Given the description of an element on the screen output the (x, y) to click on. 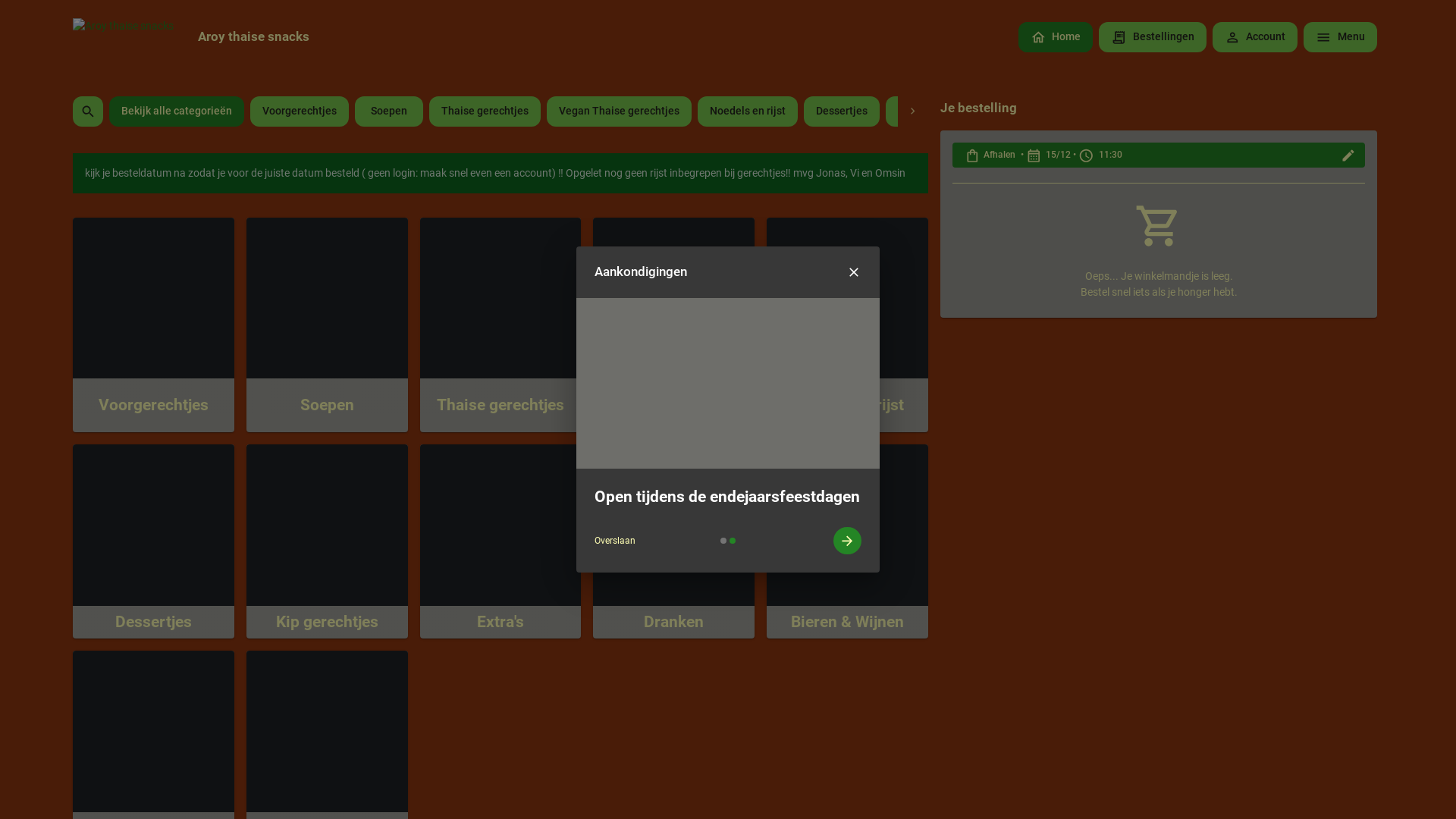
Kip gerechtjes Element type: text (303, 527)
Kip gerechtjes Element type: text (932, 112)
Dranken Element type: text (1094, 112)
Dranken Element type: text (629, 527)
Noedels en rijst Element type: text (828, 328)
pick Element type: text (675, 407)
Voorgerechtjes Element type: text (133, 328)
Dessertjes Element type: text (841, 112)
Soepen Element type: text (279, 328)
Home Element type: text (1055, 39)
Dessertjes Element type: text (116, 527)
Account Element type: text (1255, 39)
Menu Element type: text (1340, 39)
today Element type: text (548, 407)
pickup Element type: text (544, 325)
Noedels en rijst Element type: text (747, 112)
table Element type: text (605, 325)
Soepen Element type: text (388, 112)
Voorgerechtjes Element type: text (299, 112)
tomorrow Element type: text (604, 407)
Thaise gerechtjes Element type: text (489, 328)
Vegan Thaise gerechtjes Element type: text (618, 112)
Bieren & Wijnen Element type: text (1184, 112)
Extra's Element type: text (449, 527)
Extra's Element type: text (1019, 112)
Bieren & Wijnen Element type: text (828, 527)
Bestellingen Element type: text (1152, 39)
Thaise gerechtjes Element type: text (484, 112)
Mocktails @ Home (Takeaway) Element type: text (1327, 112)
Overslaan Element type: text (614, 541)
Vegan Thaise gerechtjes Element type: text (673, 328)
